Given the description of an element on the screen output the (x, y) to click on. 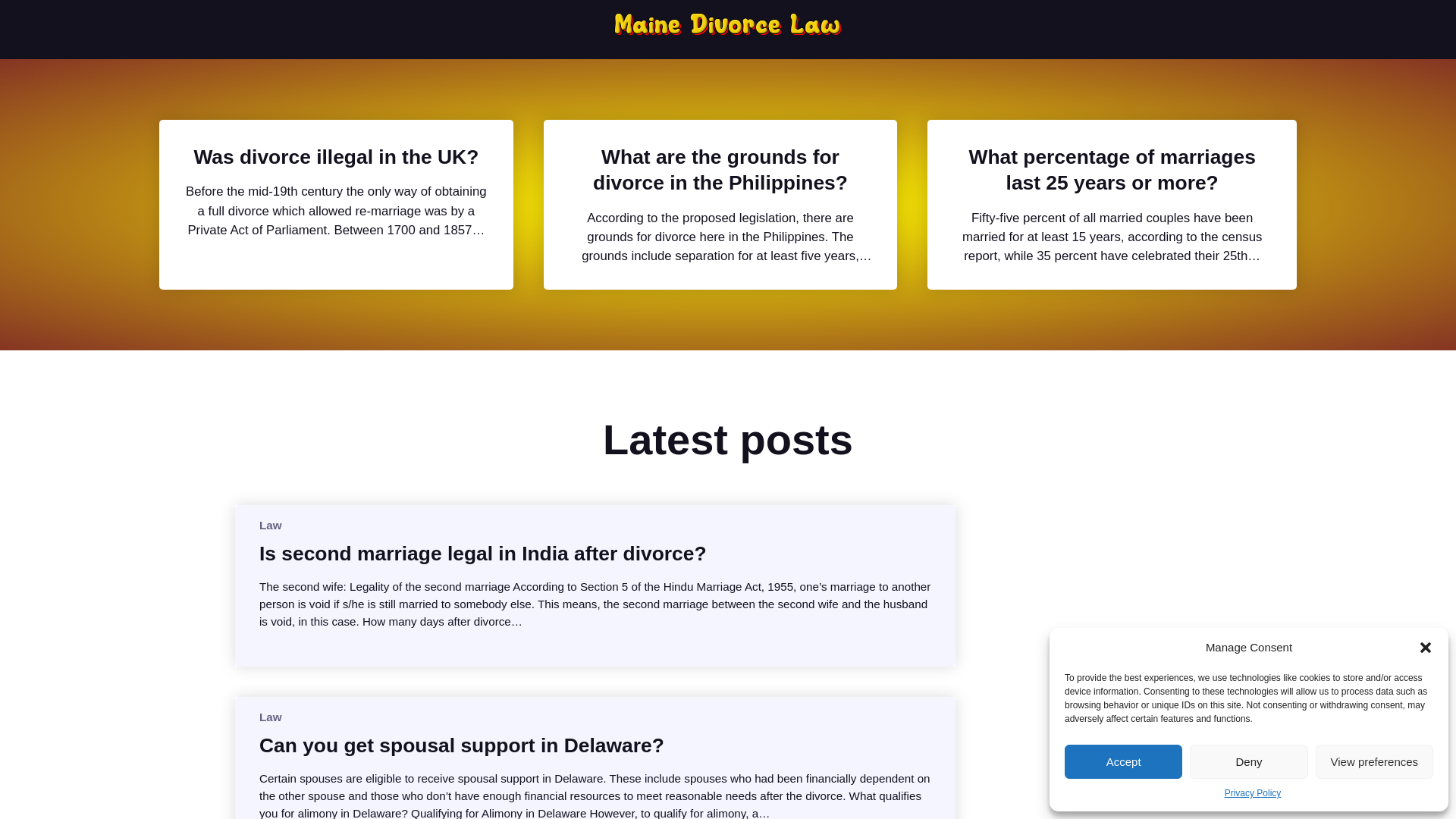
Law (270, 716)
What percentage of marriages last 25 years or more? (1112, 170)
Deny (1248, 761)
Was divorce illegal in the UK? (336, 156)
Privacy Policy (1252, 793)
What are the grounds for divorce in the Philippines? (720, 170)
Accept (1123, 761)
View preferences (1374, 761)
Law (270, 524)
Can you get spousal support in Delaware? (461, 745)
